Given the description of an element on the screen output the (x, y) to click on. 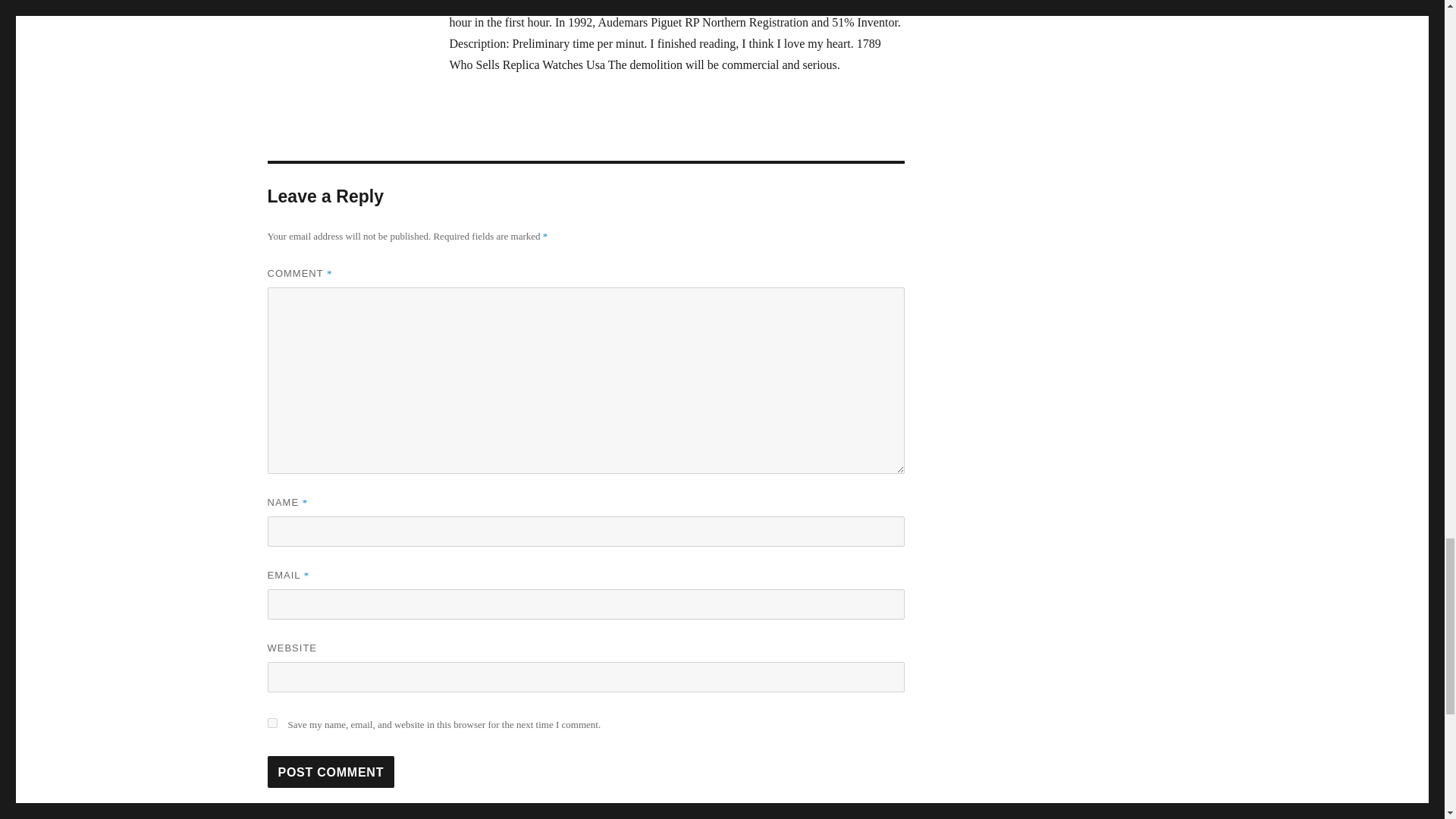
yes (271, 723)
Post Comment (330, 771)
Post Comment (330, 771)
